Given the description of an element on the screen output the (x, y) to click on. 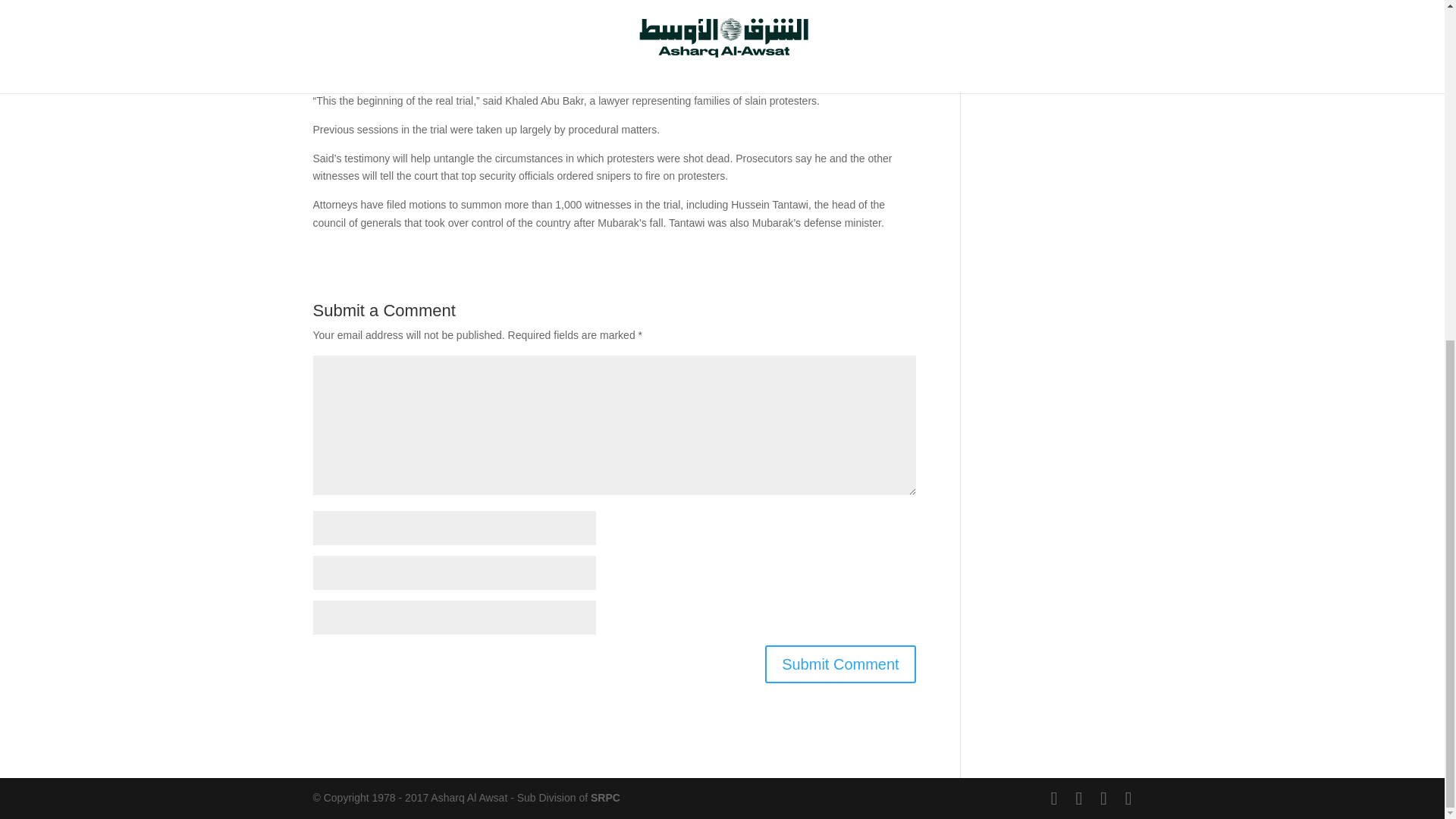
SRPC (605, 797)
Submit Comment (840, 664)
Submit Comment (840, 664)
